Given the description of an element on the screen output the (x, y) to click on. 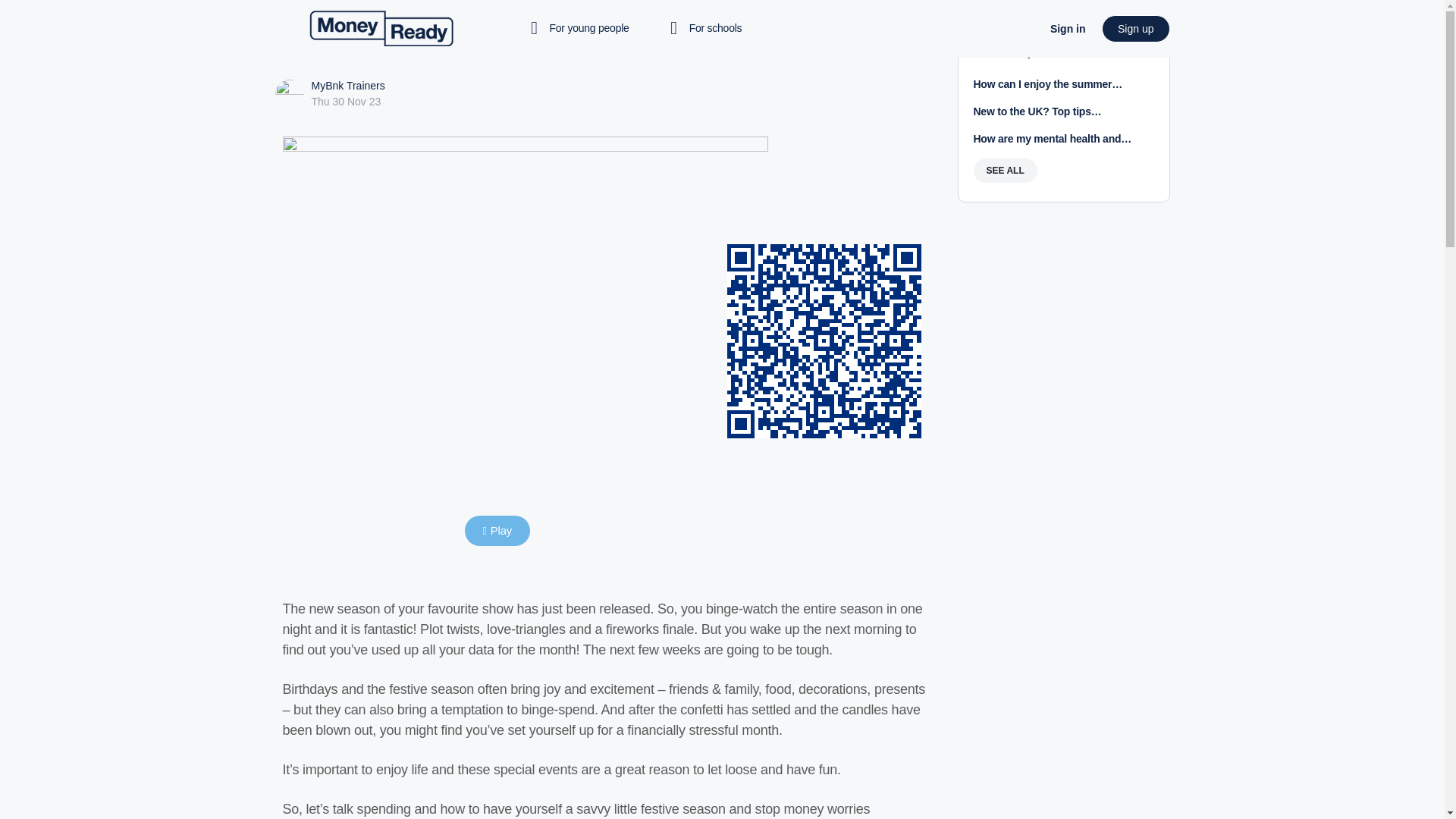
MyBnk Trainers (347, 85)
For schools (703, 28)
For young people (582, 28)
Play (496, 530)
Sign in (1067, 28)
Thu 30 Nov 23 (345, 101)
Sign up (1135, 28)
